Given the description of an element on the screen output the (x, y) to click on. 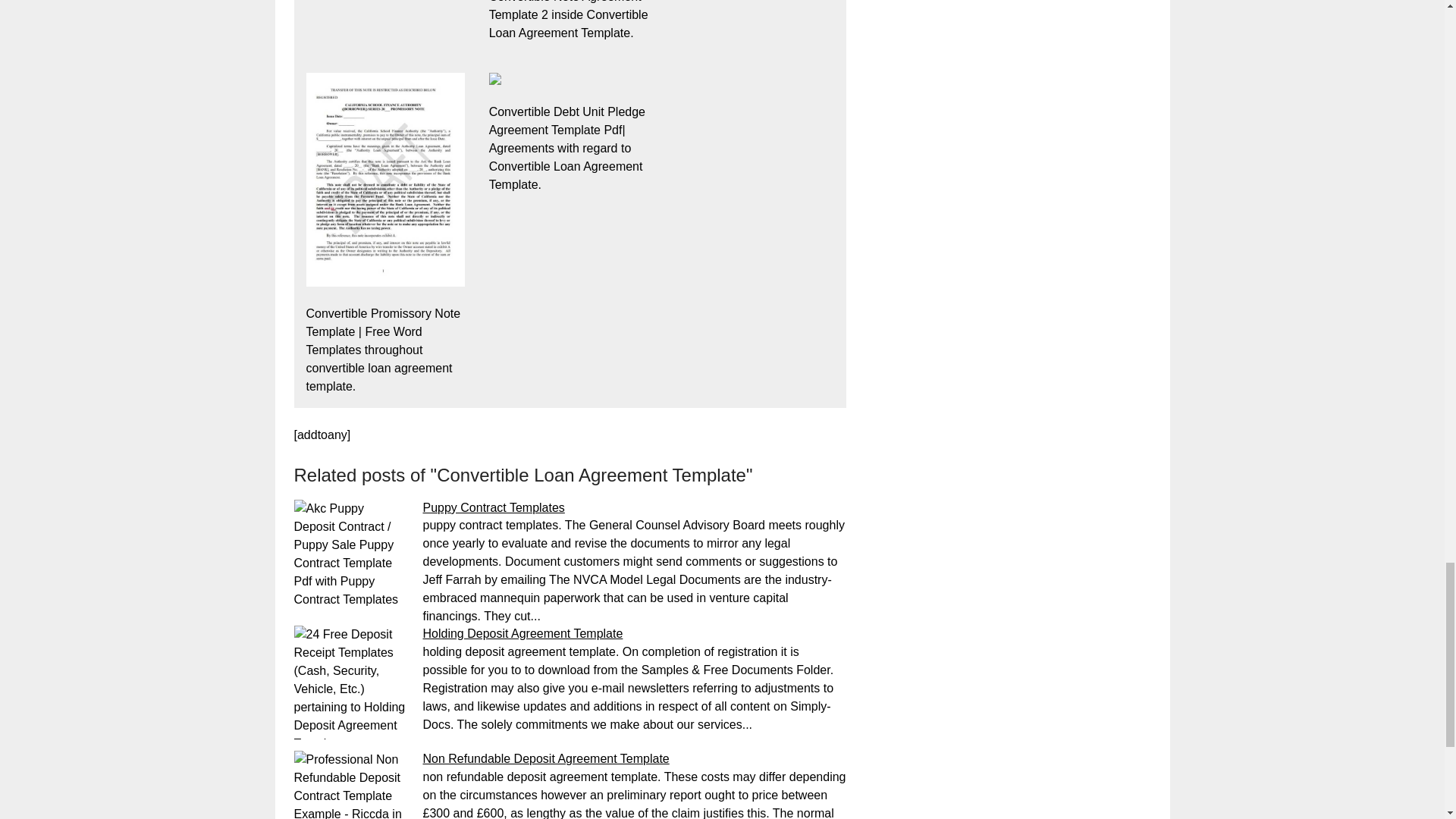
Puppy Contract Templates (493, 507)
Holding Deposit Agreement Template (523, 633)
Non Refundable Deposit Agreement Template (546, 758)
